Given the description of an element on the screen output the (x, y) to click on. 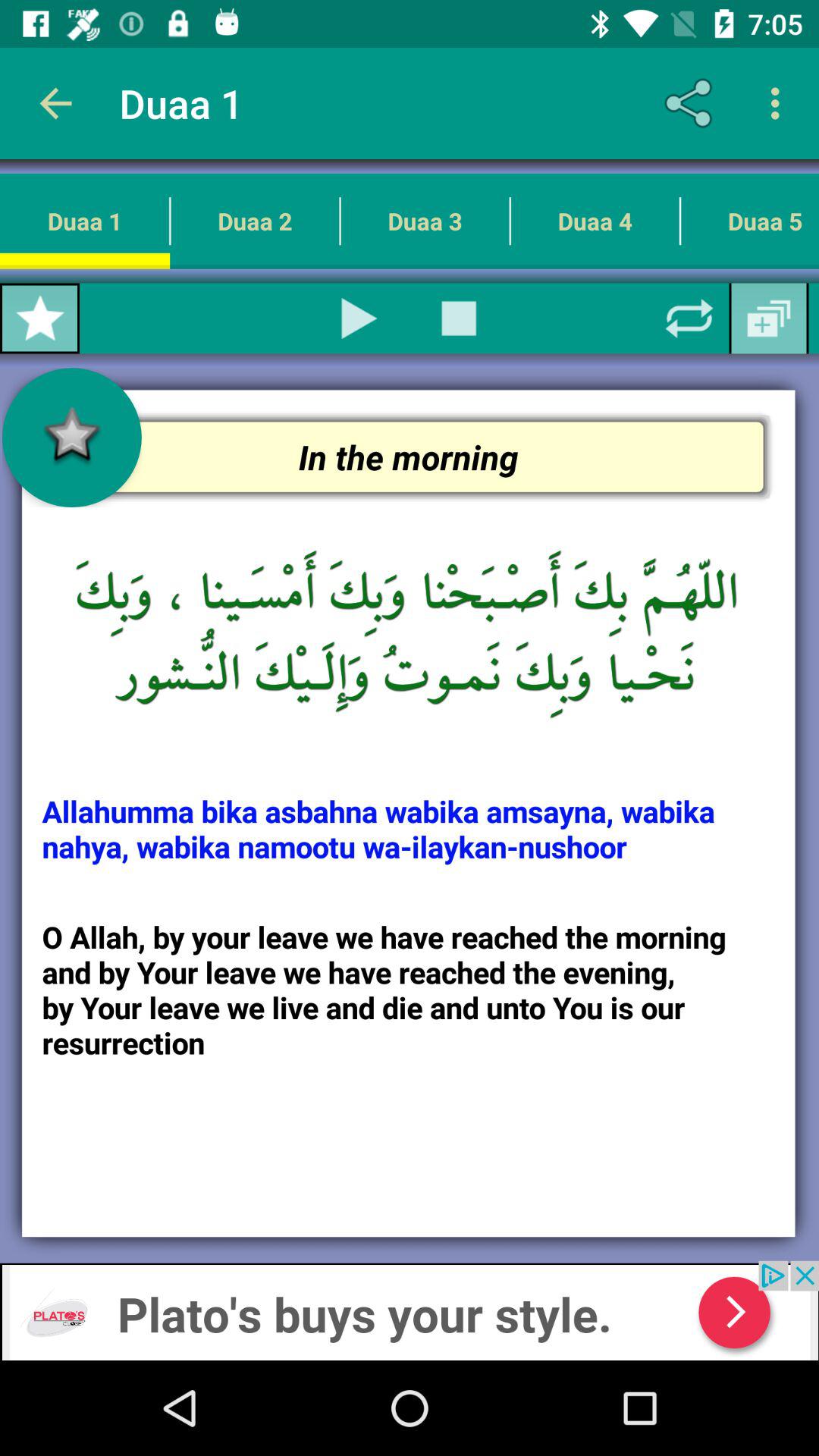
make favorite (39, 318)
